Given the description of an element on the screen output the (x, y) to click on. 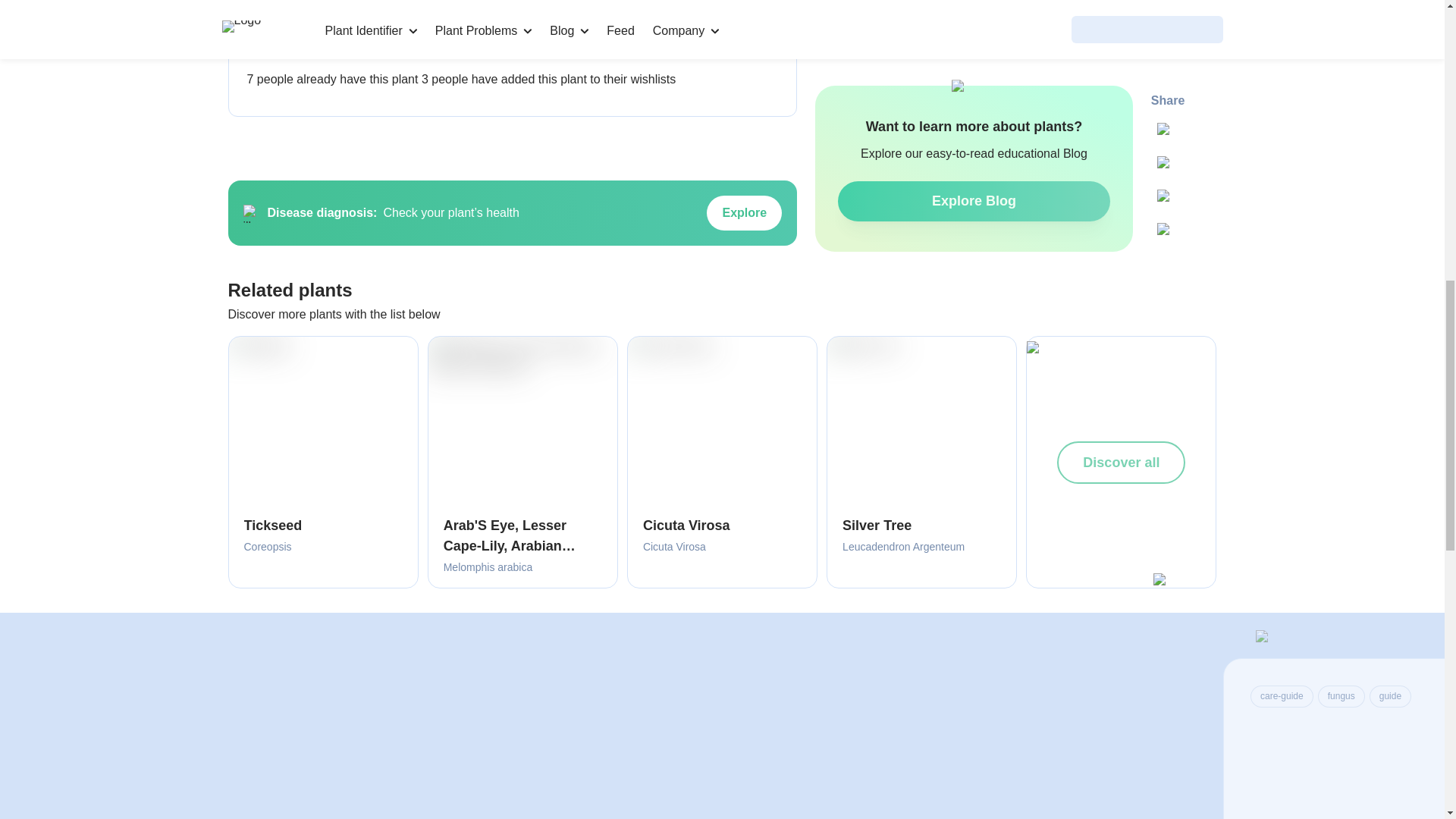
Explore Blog (973, 133)
Explore (743, 212)
Popularity (255, 45)
